Given the description of an element on the screen output the (x, y) to click on. 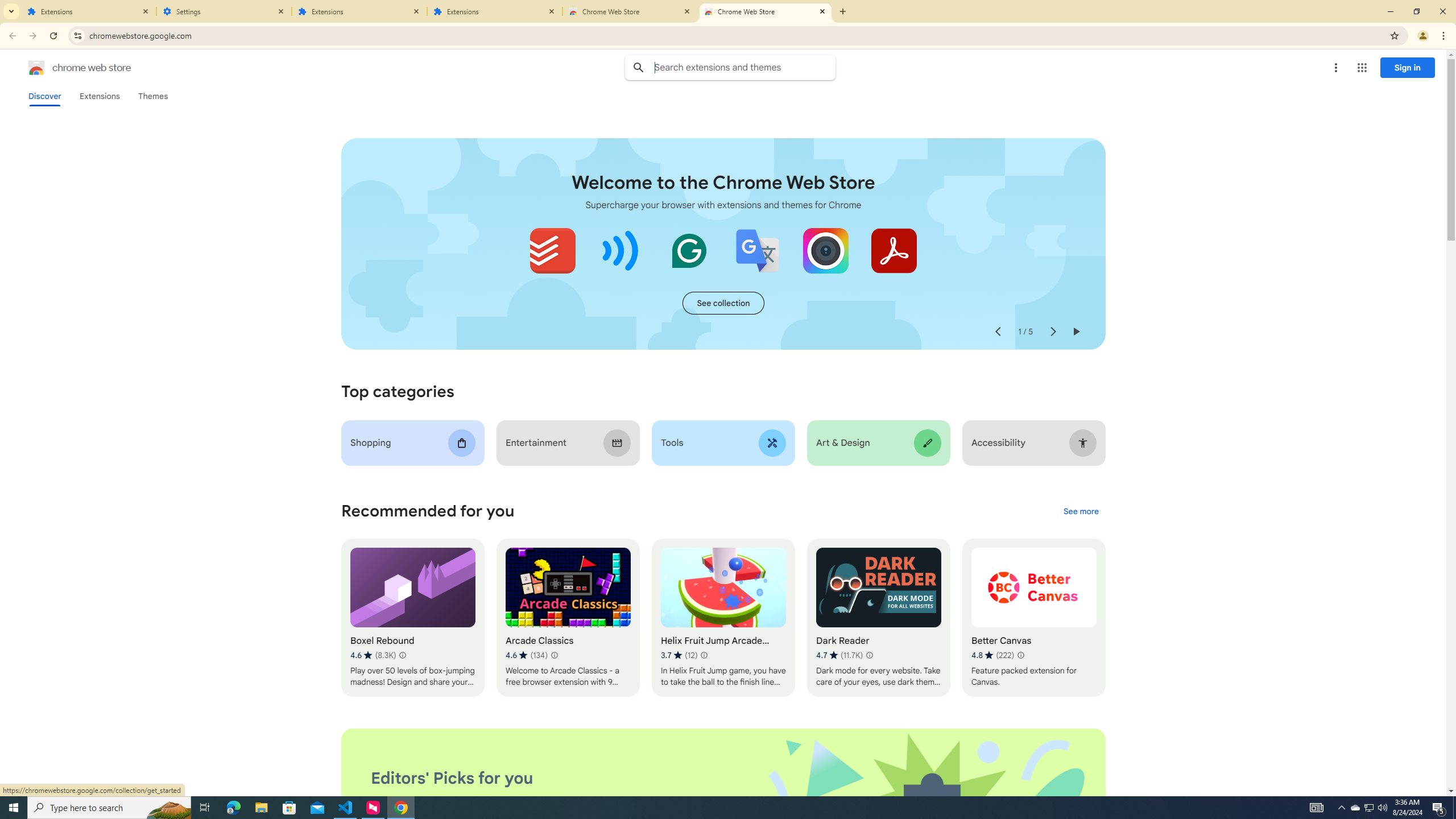
Themes (152, 95)
Boxel Rebound (412, 617)
Google apps (1362, 67)
Extensions (88, 11)
Entertainment (567, 443)
More options menu (1335, 67)
Accessibility (1033, 443)
Tools (722, 443)
Google Translate (757, 250)
Extensions (359, 11)
